Given the description of an element on the screen output the (x, y) to click on. 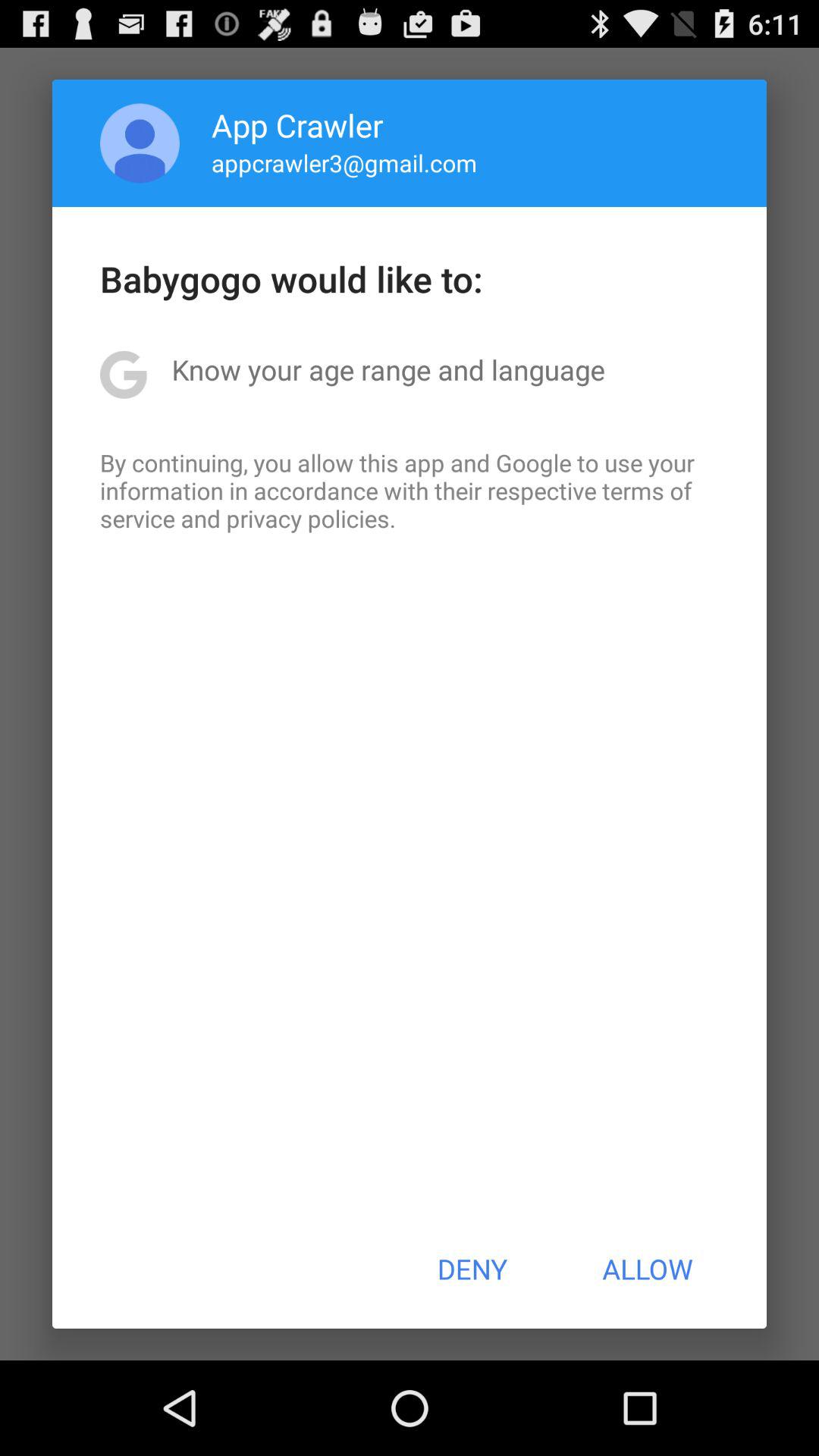
flip until appcrawler3@gmail.com (344, 162)
